Given the description of an element on the screen output the (x, y) to click on. 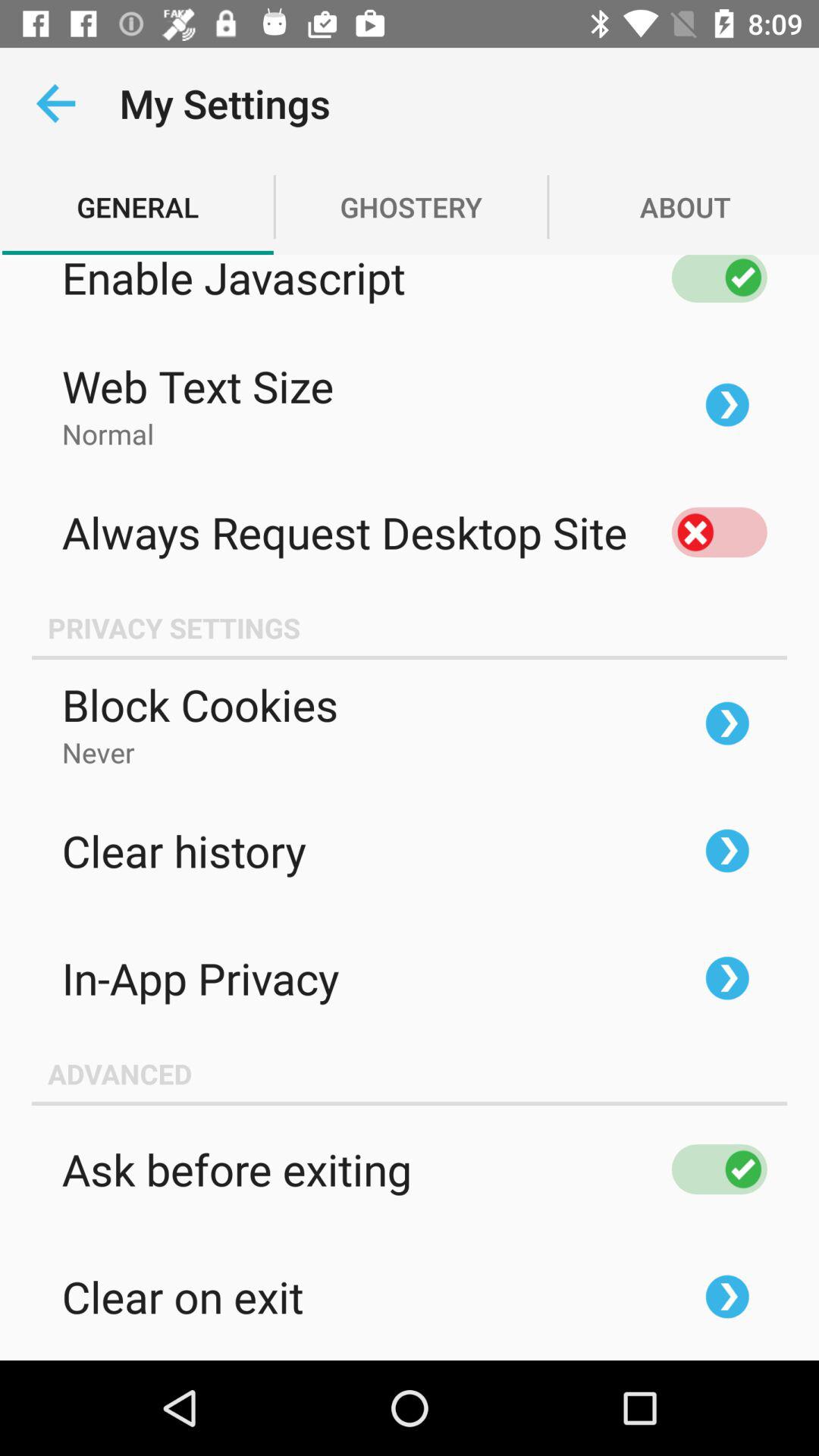
toggle ask before exiting (719, 1169)
